Given the description of an element on the screen output the (x, y) to click on. 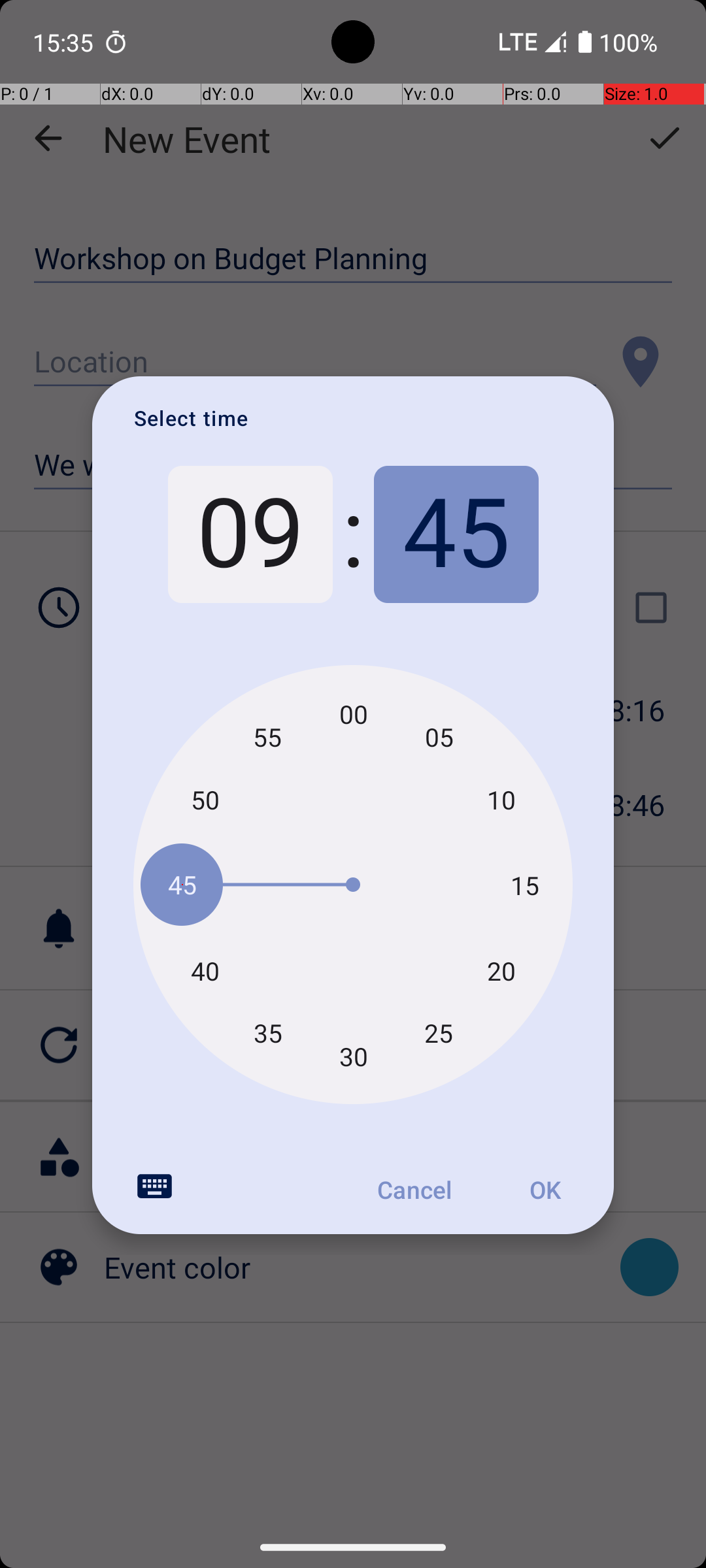
09 Element type: android.view.View (250, 534)
